Given the description of an element on the screen output the (x, y) to click on. 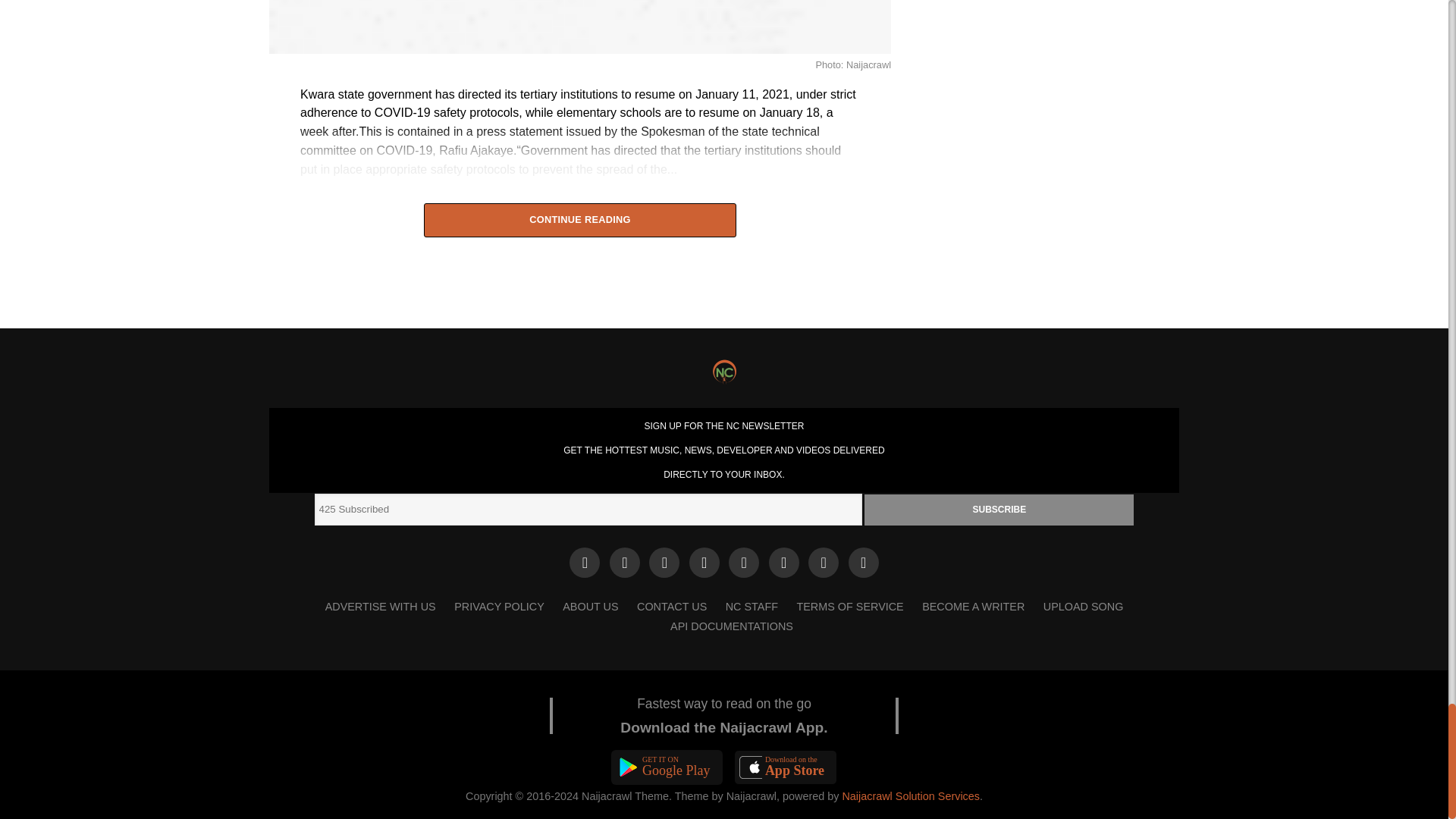
App Store (785, 767)
Subscribe (999, 509)
Google Play (667, 767)
